Given the description of an element on the screen output the (x, y) to click on. 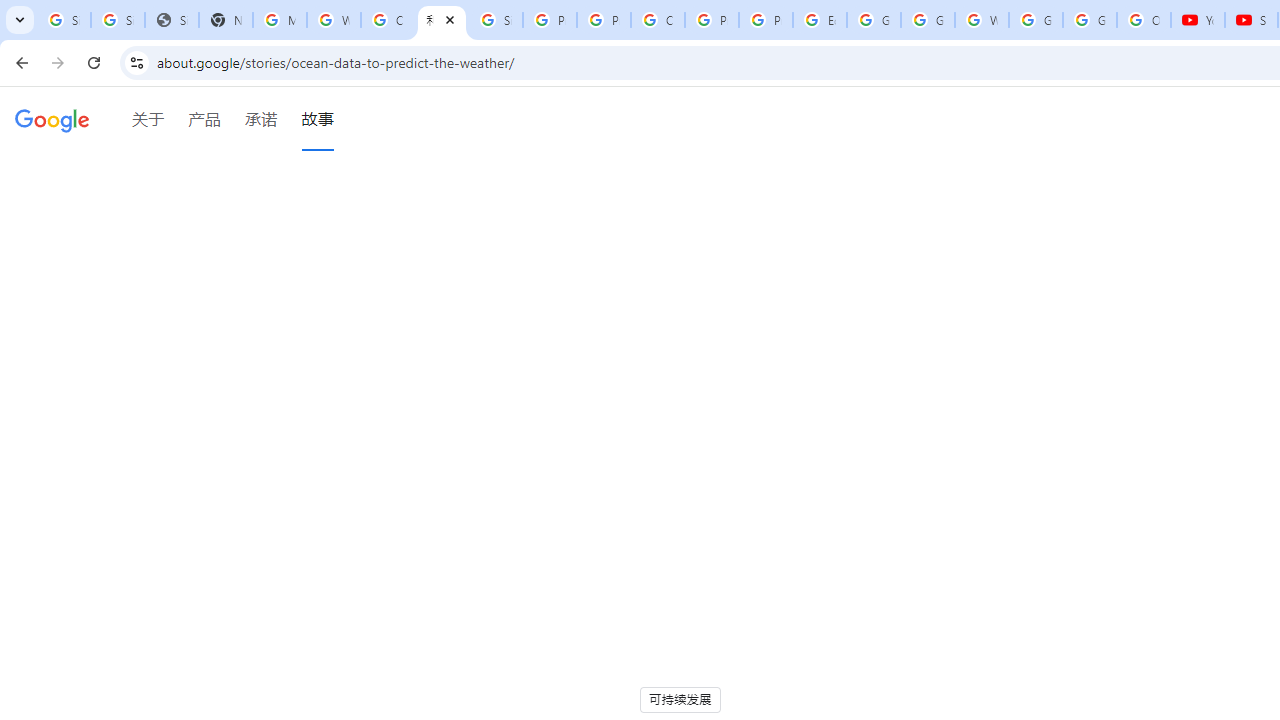
Welcome to My Activity (981, 20)
Who is my administrator? - Google Account Help (333, 20)
Sign in - Google Accounts (495, 20)
Create your Google Account (387, 20)
